Given the description of an element on the screen output the (x, y) to click on. 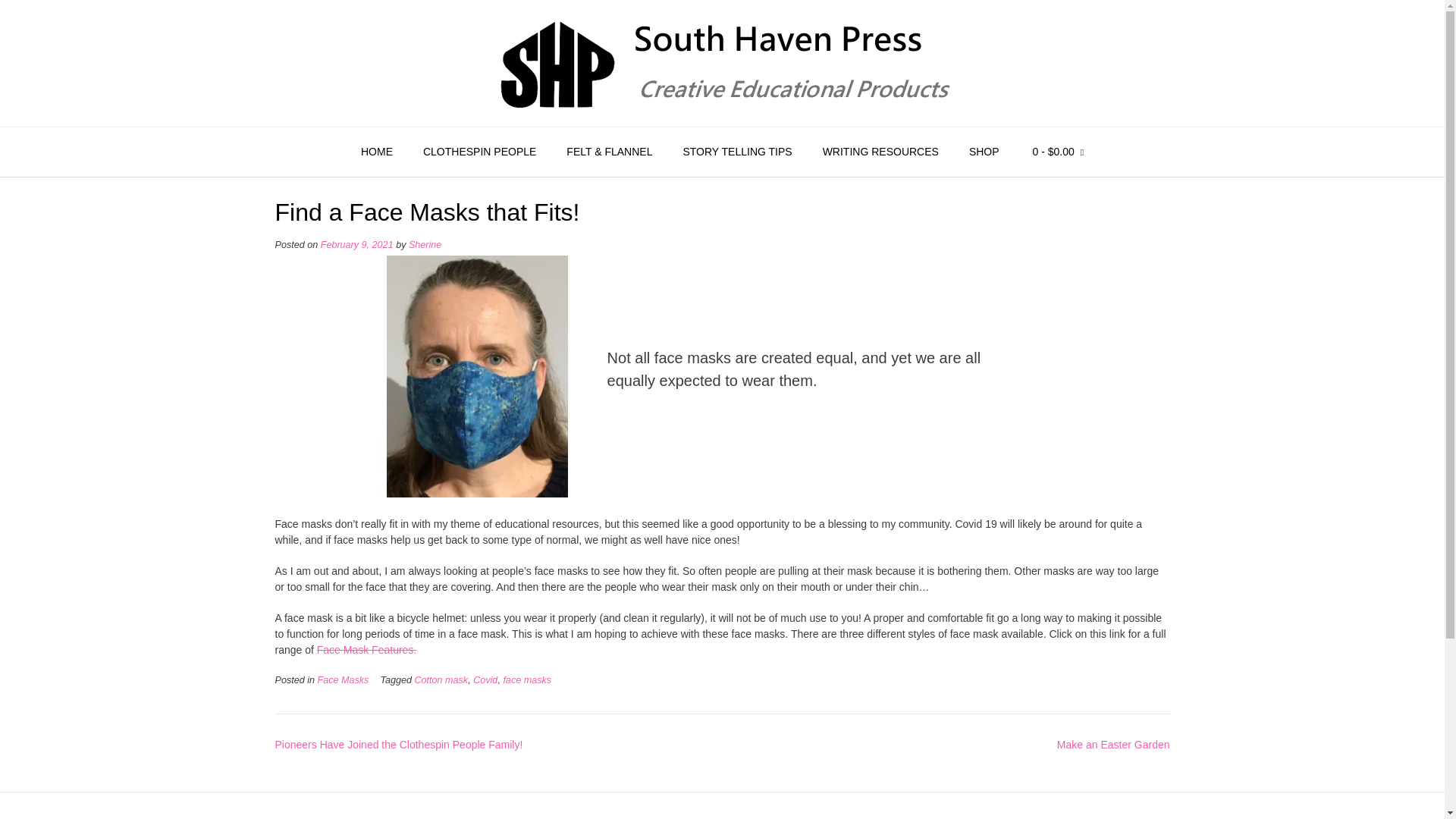
Covid (485, 679)
Sherine (425, 244)
HOME (376, 152)
CLOTHESPIN PEOPLE (479, 152)
STORY TELLING TIPS (736, 152)
SHOP (983, 152)
Face Mask Features. (366, 649)
Face Masks (343, 679)
February 9, 2021 (356, 244)
View your shopping cart (1057, 152)
Face Mask Features (366, 649)
Cotton mask (440, 679)
WRITING RESOURCES (880, 152)
South Haven Press (722, 62)
